Given the description of an element on the screen output the (x, y) to click on. 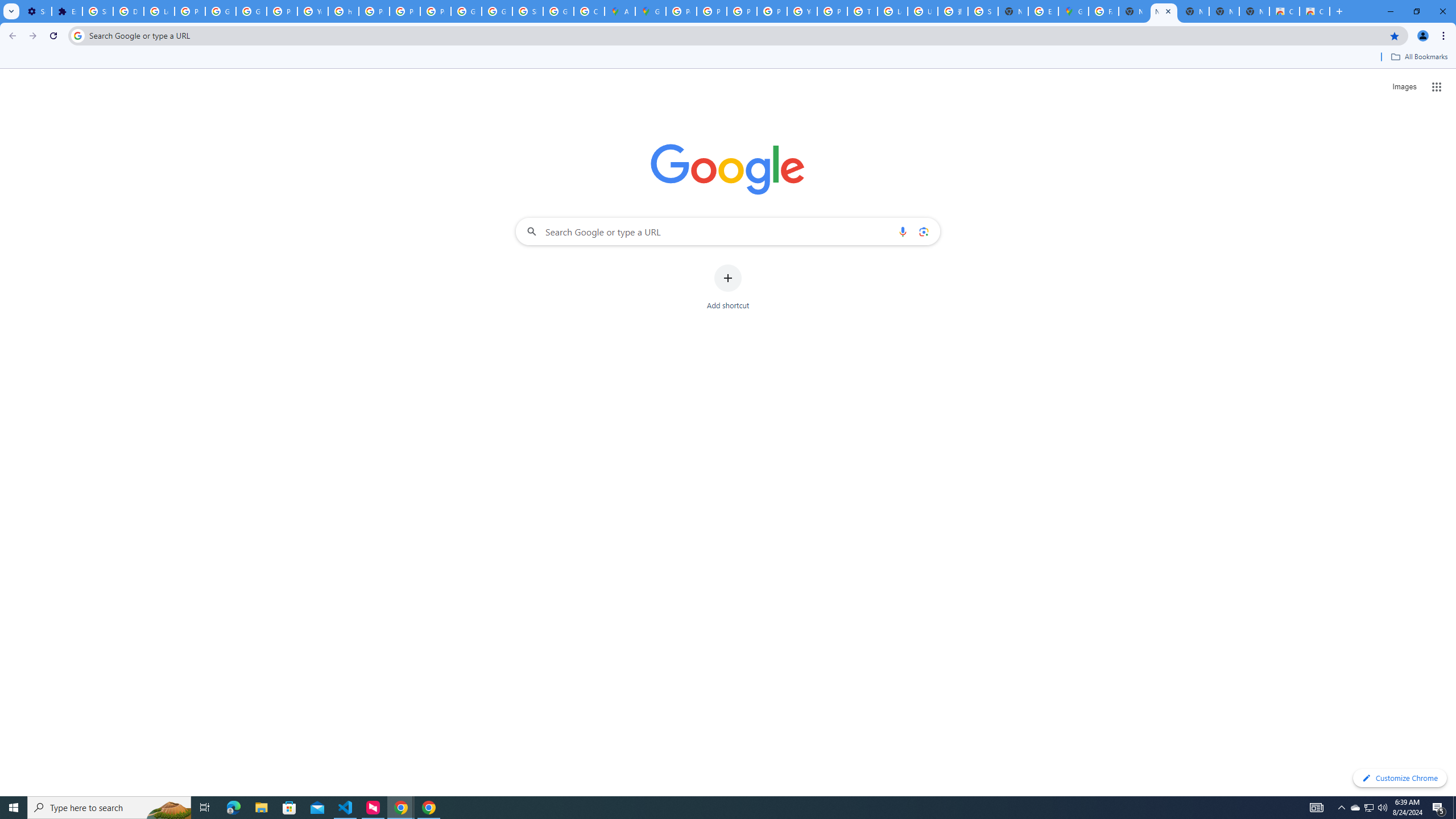
Sign in - Google Accounts (527, 11)
Google Maps (650, 11)
Search by voice (902, 230)
